Given the description of an element on the screen output the (x, y) to click on. 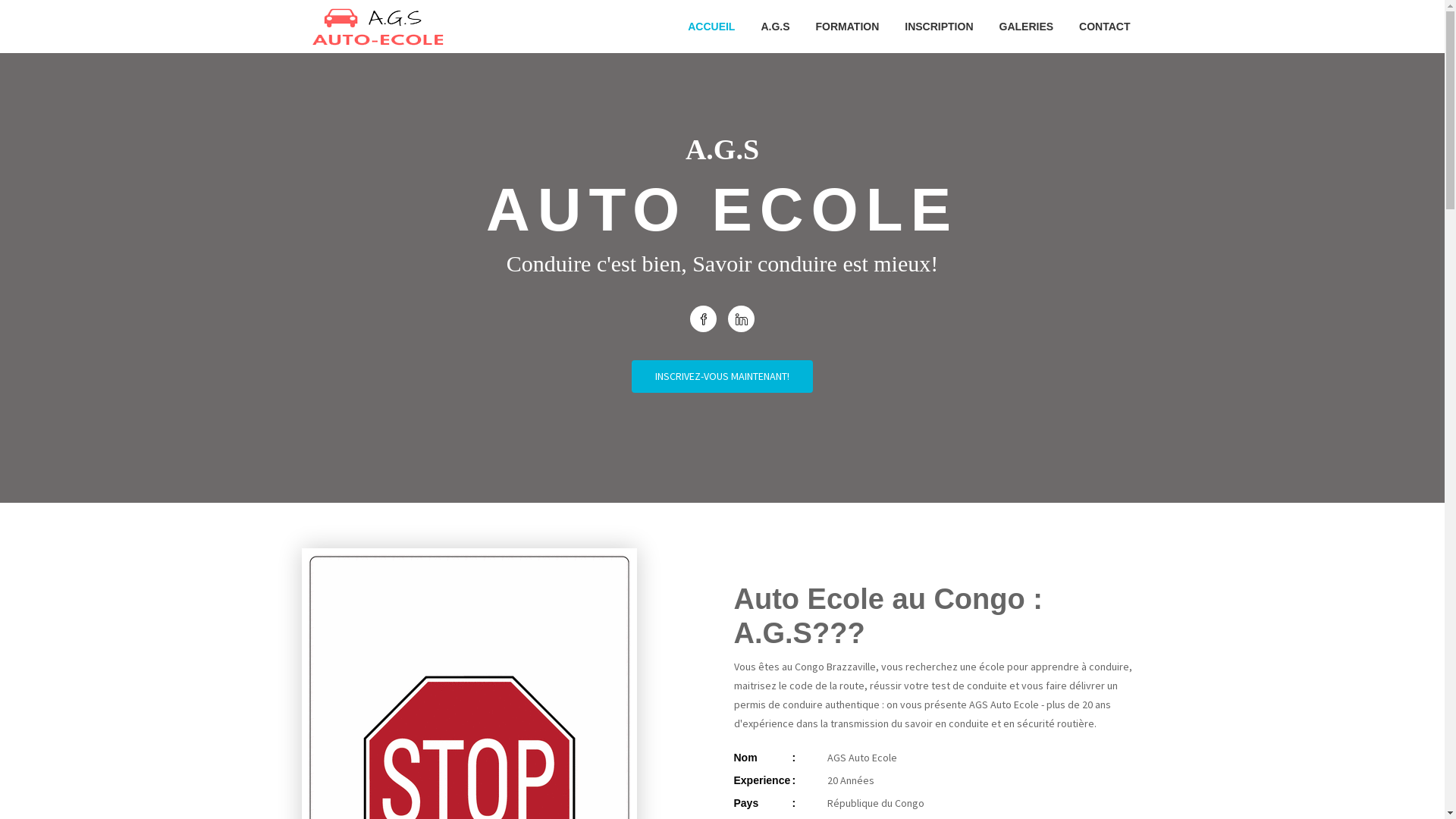
CONTACT Element type: text (1104, 26)
INSCRIPTION Element type: text (938, 26)
INSCRIVEZ-VOUS MAINTENANT! Element type: text (721, 376)
FORMATION Element type: text (847, 26)
ACCUEIL Element type: text (710, 26)
GALERIES Element type: text (1026, 26)
A.G.S Element type: text (774, 26)
